Given the description of an element on the screen output the (x, y) to click on. 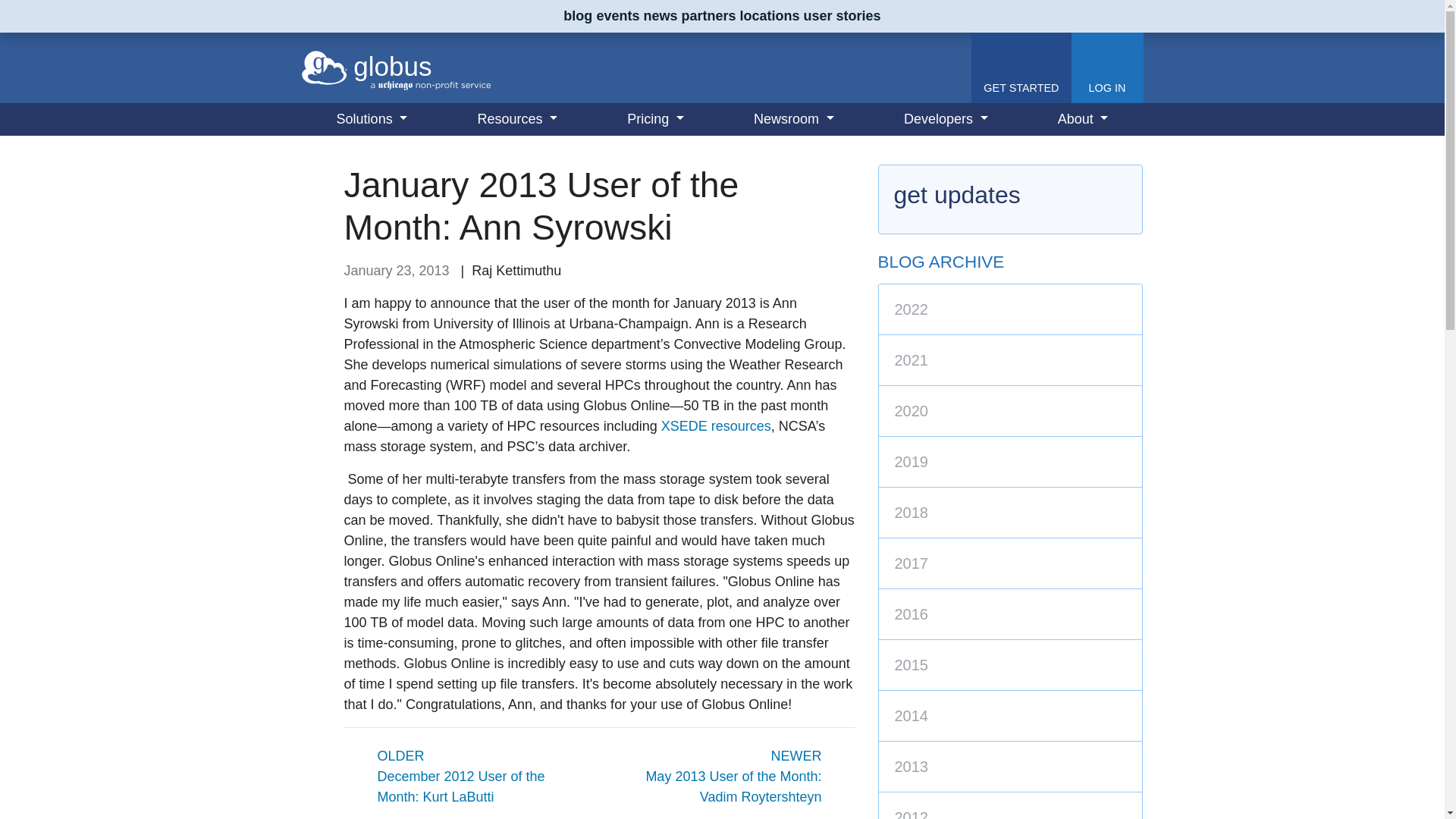
partners (708, 15)
Solutions (371, 119)
GET STARTED (1020, 67)
blog (577, 15)
events (617, 15)
Newsroom (794, 119)
locations (769, 15)
news (660, 15)
globus (396, 67)
user stories (841, 15)
Resources (516, 119)
LOG IN (1106, 67)
Pricing (655, 119)
